Given the description of an element on the screen output the (x, y) to click on. 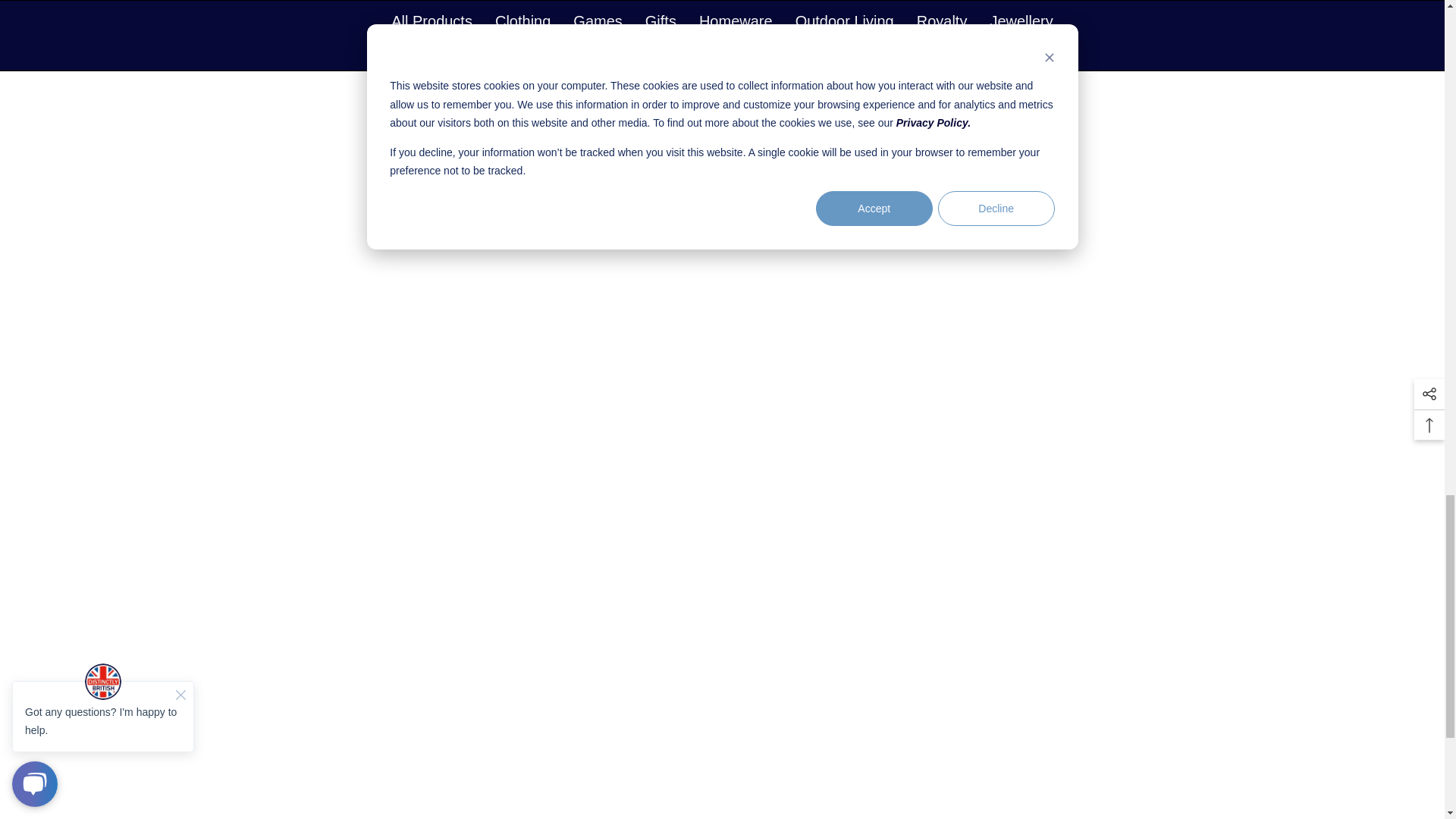
Recently Viewed Products (721, 212)
